Given the description of an element on the screen output the (x, y) to click on. 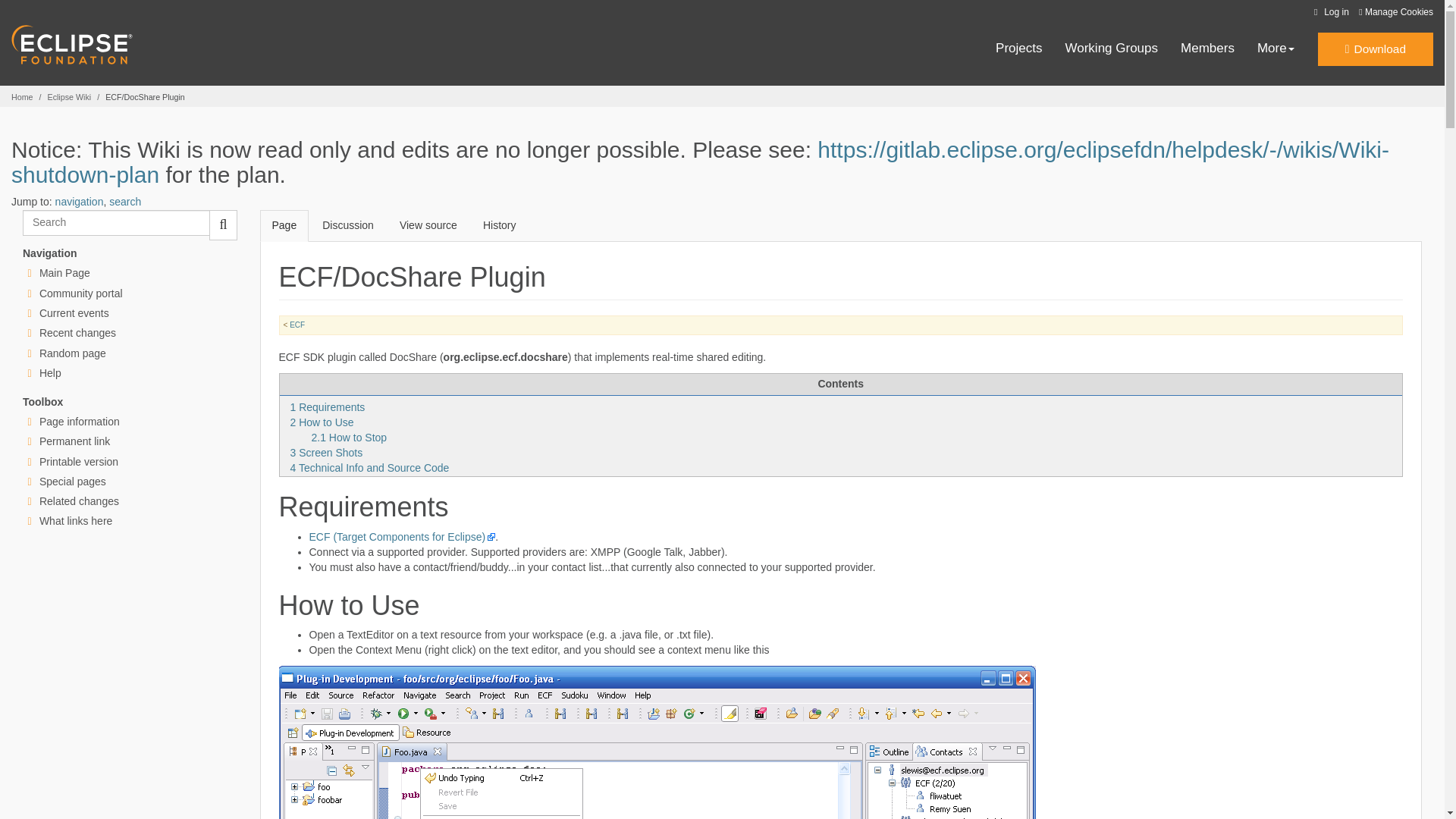
Members (1207, 48)
Download (1374, 49)
More (1275, 48)
More information about this page (79, 421)
Search the pages for this text (222, 224)
Find background information on current events (74, 313)
Special:Search (116, 222)
Projects (1018, 48)
Manage Cookies (1395, 12)
Log in (1328, 12)
Permanent link to this revision of the page (74, 440)
About the project, what you can do, where to find things (80, 293)
The place to find out (50, 372)
Working Groups (1111, 48)
